Given the description of an element on the screen output the (x, y) to click on. 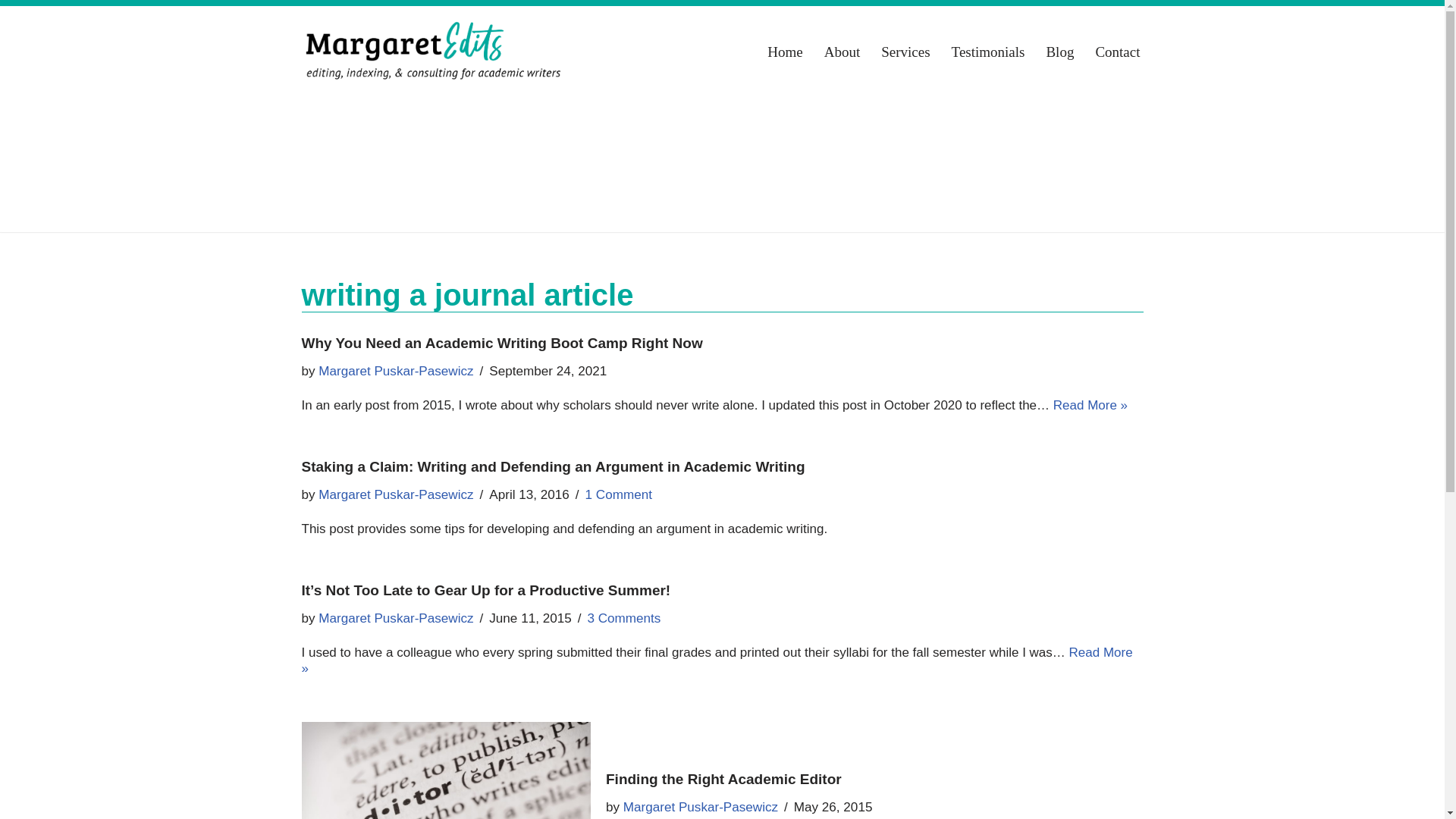
Services (905, 51)
Posts by Margaret Puskar-Pasewicz (395, 494)
Skip to content (11, 31)
Testimonials (988, 51)
3 Comments (623, 617)
Finding the Right Academic Editor (446, 770)
Finding the Right Academic Editor (723, 779)
Margaret Puskar-Pasewicz (395, 617)
About (842, 51)
Posts by Margaret Puskar-Pasewicz (395, 617)
1 Comment (618, 494)
Margaret Puskar-Pasewicz (700, 807)
Posts by Margaret Puskar-Pasewicz (395, 370)
Margaret Puskar-Pasewicz (395, 494)
